Given the description of an element on the screen output the (x, y) to click on. 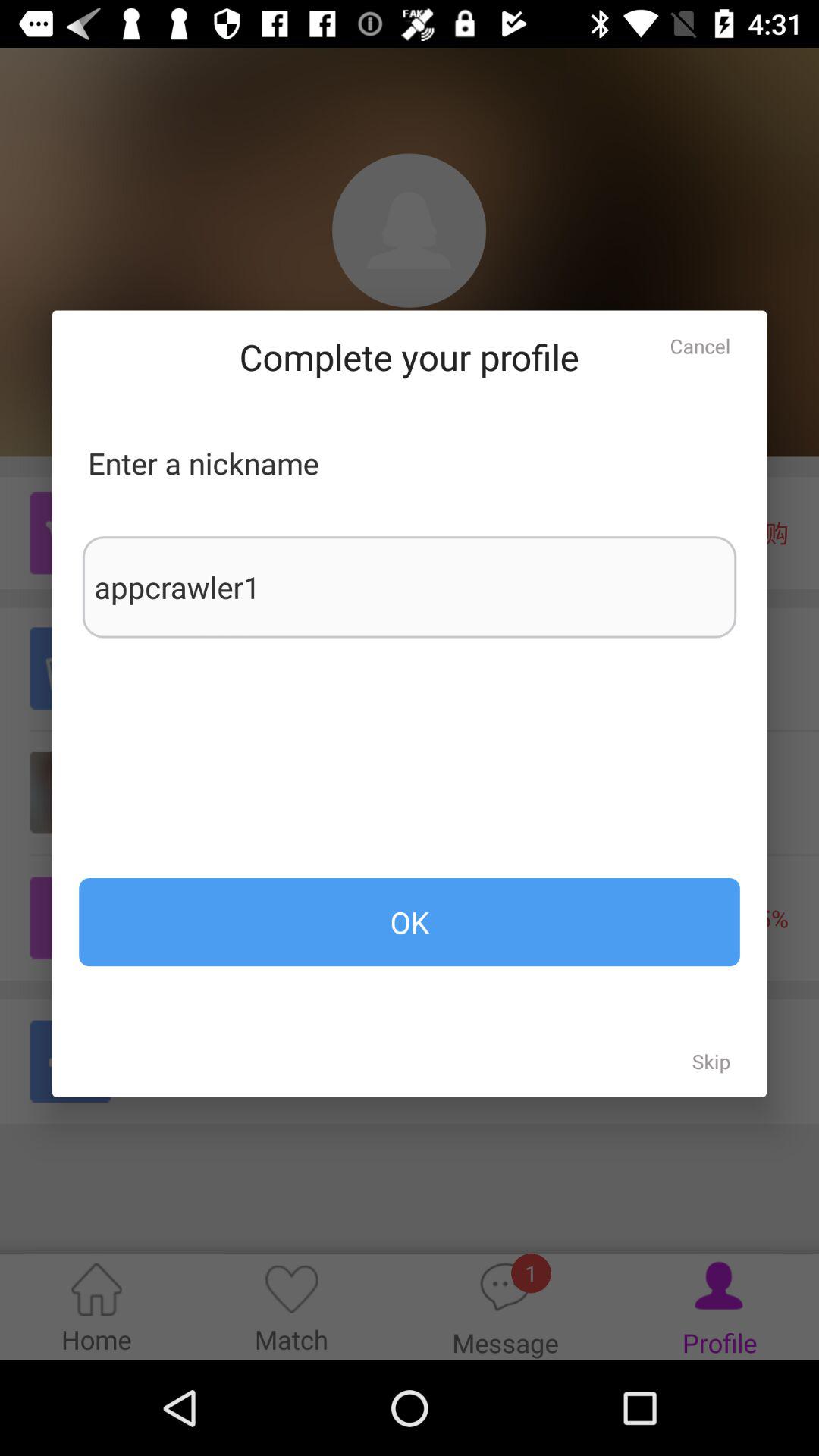
tap icon above skip (409, 922)
